Given the description of an element on the screen output the (x, y) to click on. 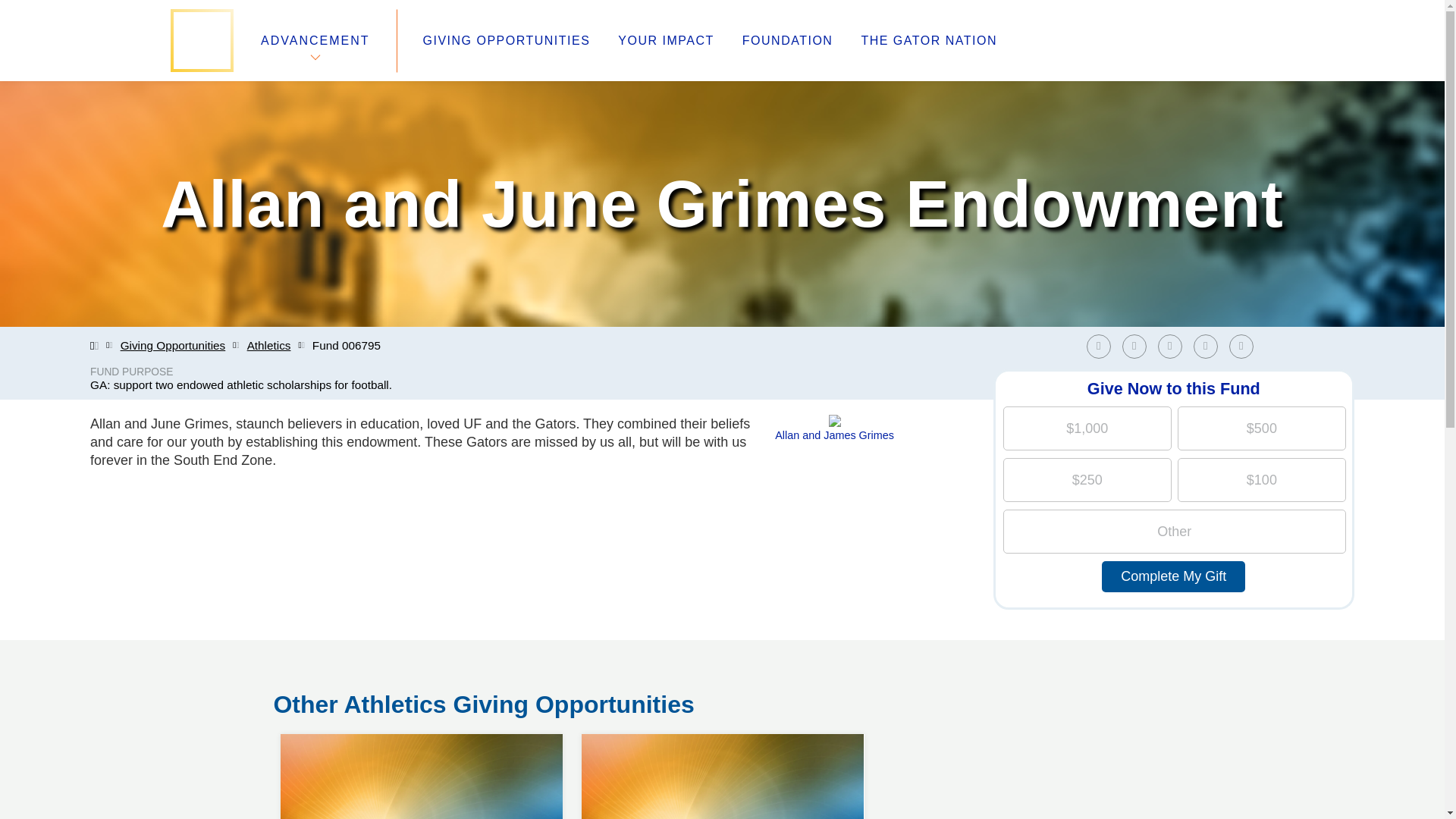
Share by Email (1240, 346)
GIVING OPPORTUNITIES (507, 40)
Share on Reddit (1205, 346)
FOUNDATION (787, 40)
Share on LinkedIn (721, 734)
Athletics (1173, 345)
Share on Twitter (269, 345)
ADVANCEMENT (1138, 345)
THE GATOR NATION (314, 40)
Share on Twitter (928, 40)
Share on Facebook (1134, 346)
Giving Opportunities (1102, 345)
Share by Email (172, 345)
Complete My Gift (1244, 345)
